Given the description of an element on the screen output the (x, y) to click on. 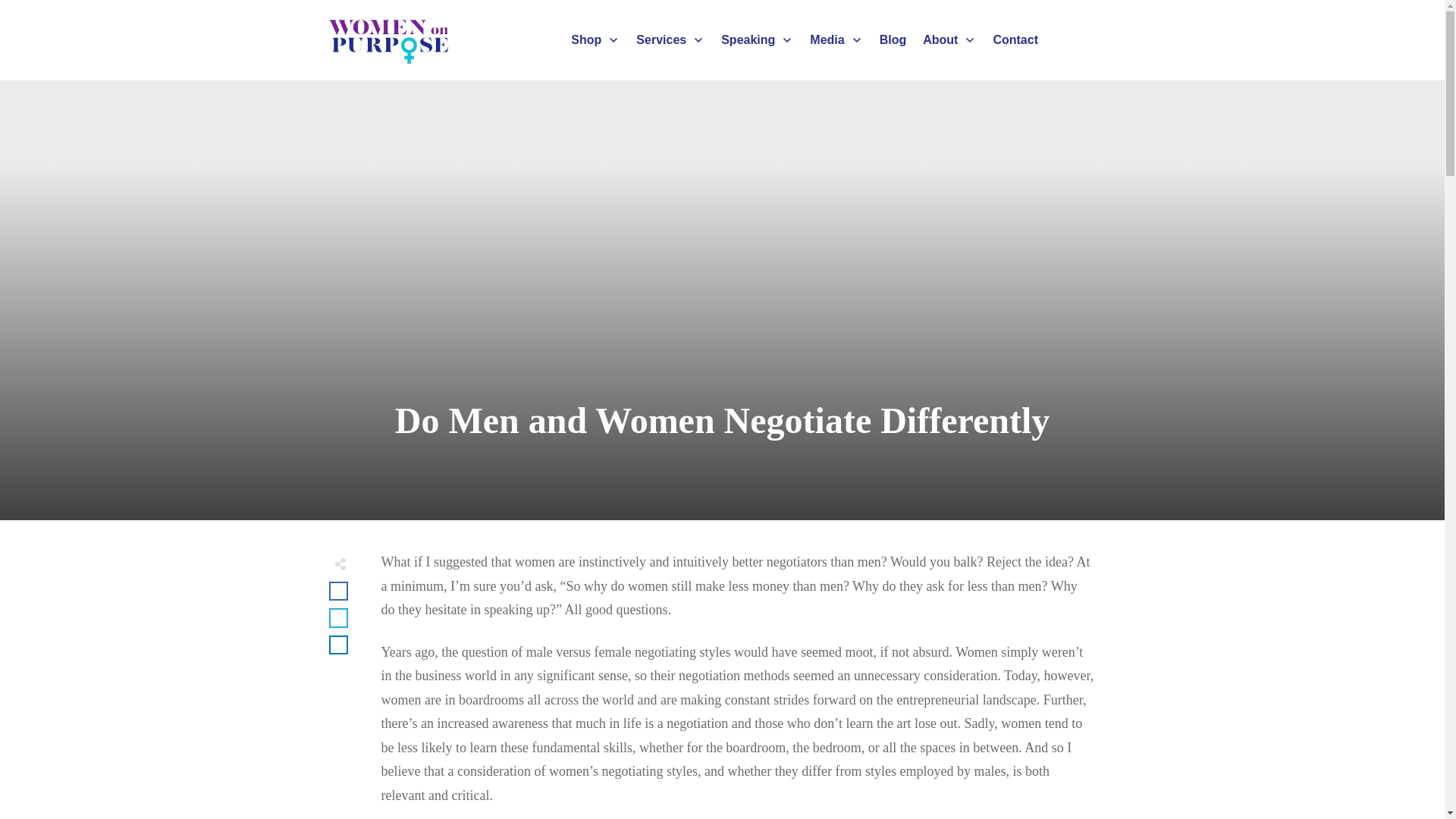
Speaking (756, 39)
Shop (595, 39)
Contact (1015, 39)
Services (670, 39)
About (949, 39)
Blog (893, 39)
Media (835, 39)
